Given the description of an element on the screen output the (x, y) to click on. 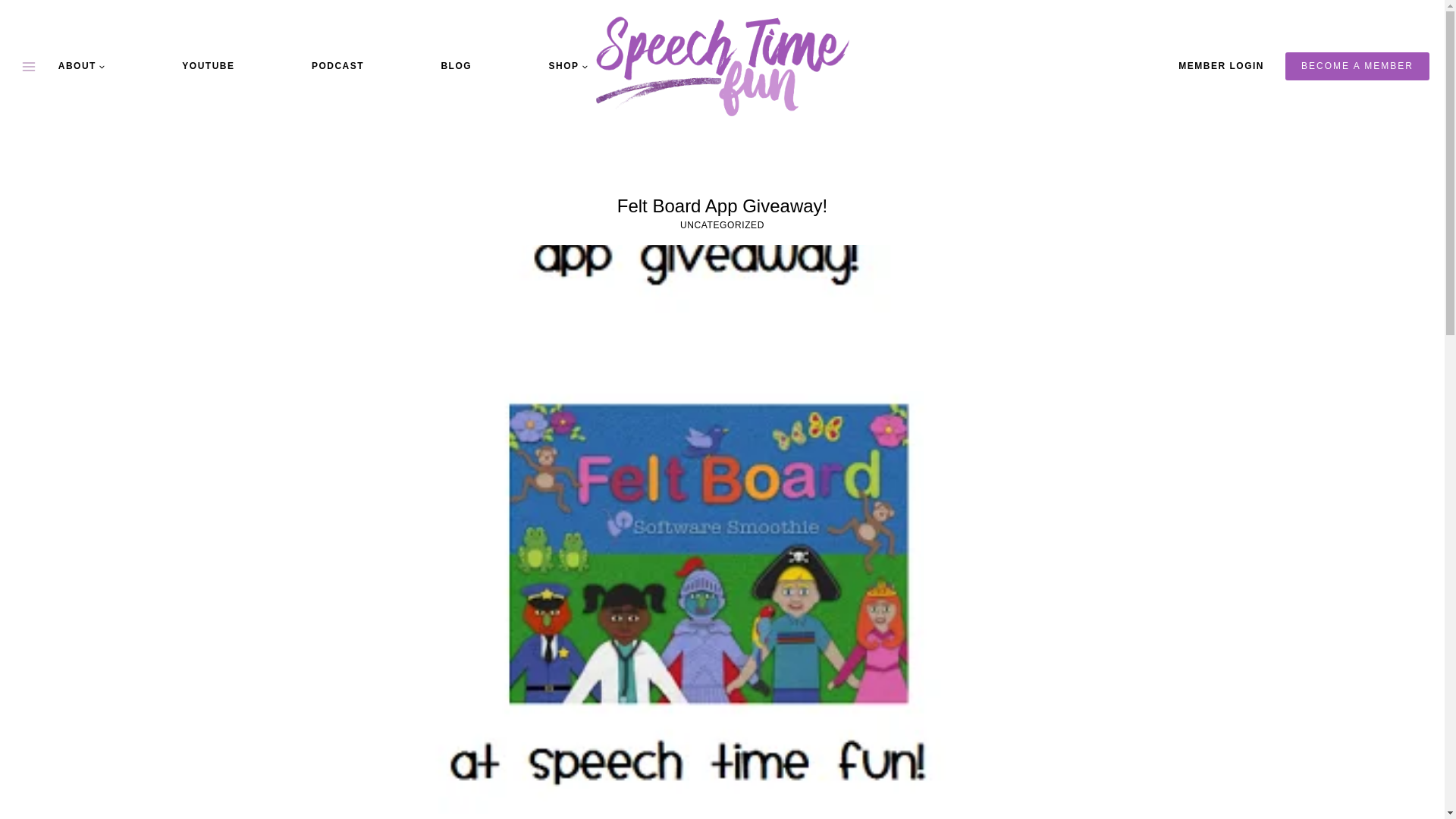
SHOP (567, 65)
BLOG (455, 65)
BECOME A MEMBER (1357, 65)
PODCAST (337, 65)
UNCATEGORIZED (721, 225)
YOUTUBE (207, 65)
ABOUT (81, 65)
MEMBER LOGIN (1221, 65)
